Given the description of an element on the screen output the (x, y) to click on. 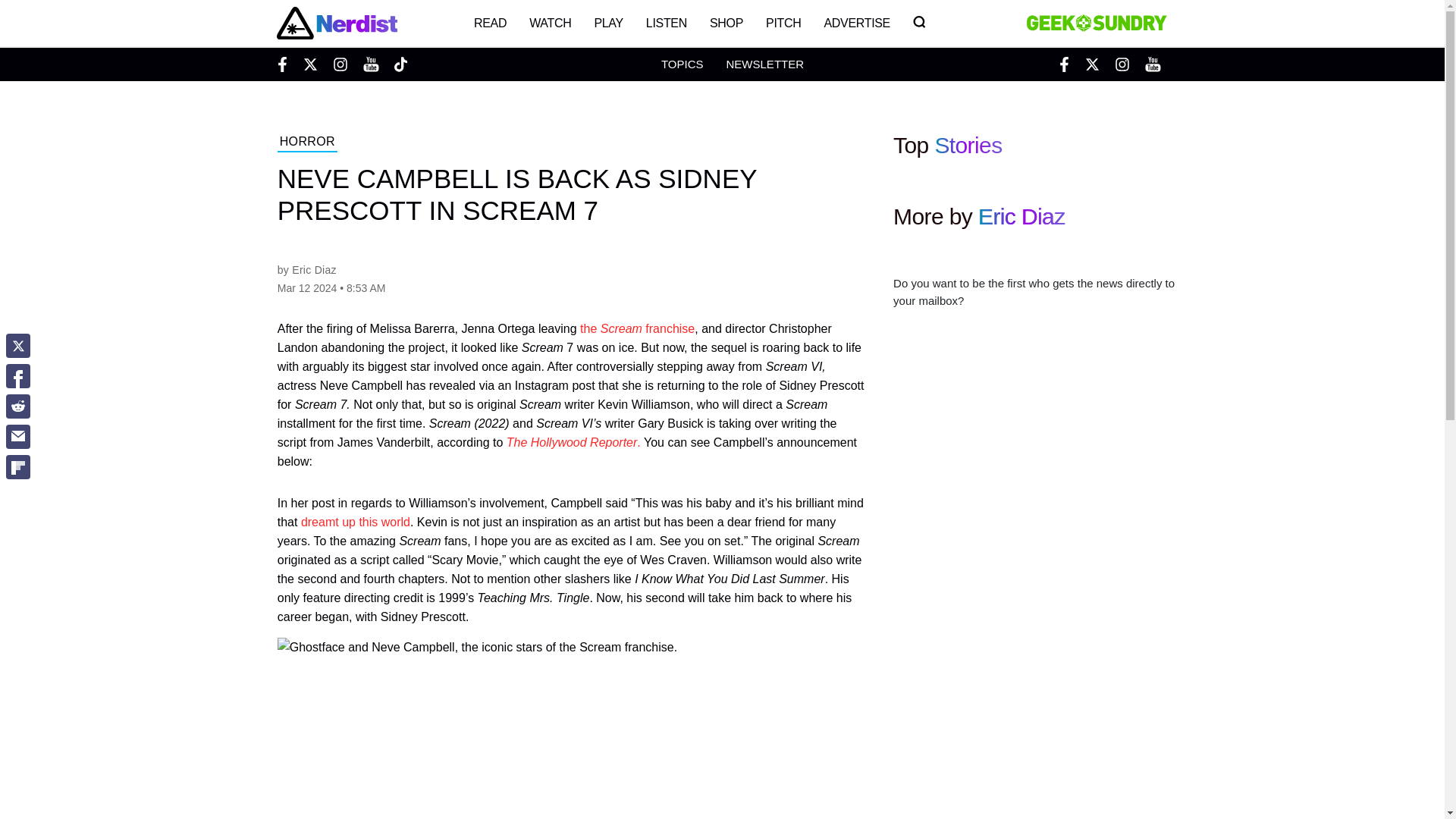
SHOP (726, 22)
TOPICS (681, 63)
PLAY (607, 22)
Eric Diaz (1021, 216)
PITCH (783, 22)
Nerdist (336, 23)
dreamt up this world (355, 521)
PLAY (607, 22)
Eric Diaz (314, 269)
ADVERTISE (856, 22)
LISTEN (666, 22)
The Hollywood Reporter. (573, 441)
HORROR (307, 143)
Twitter Geek and Sundry (1091, 63)
the Scream franchise (636, 328)
